Given the description of an element on the screen output the (x, y) to click on. 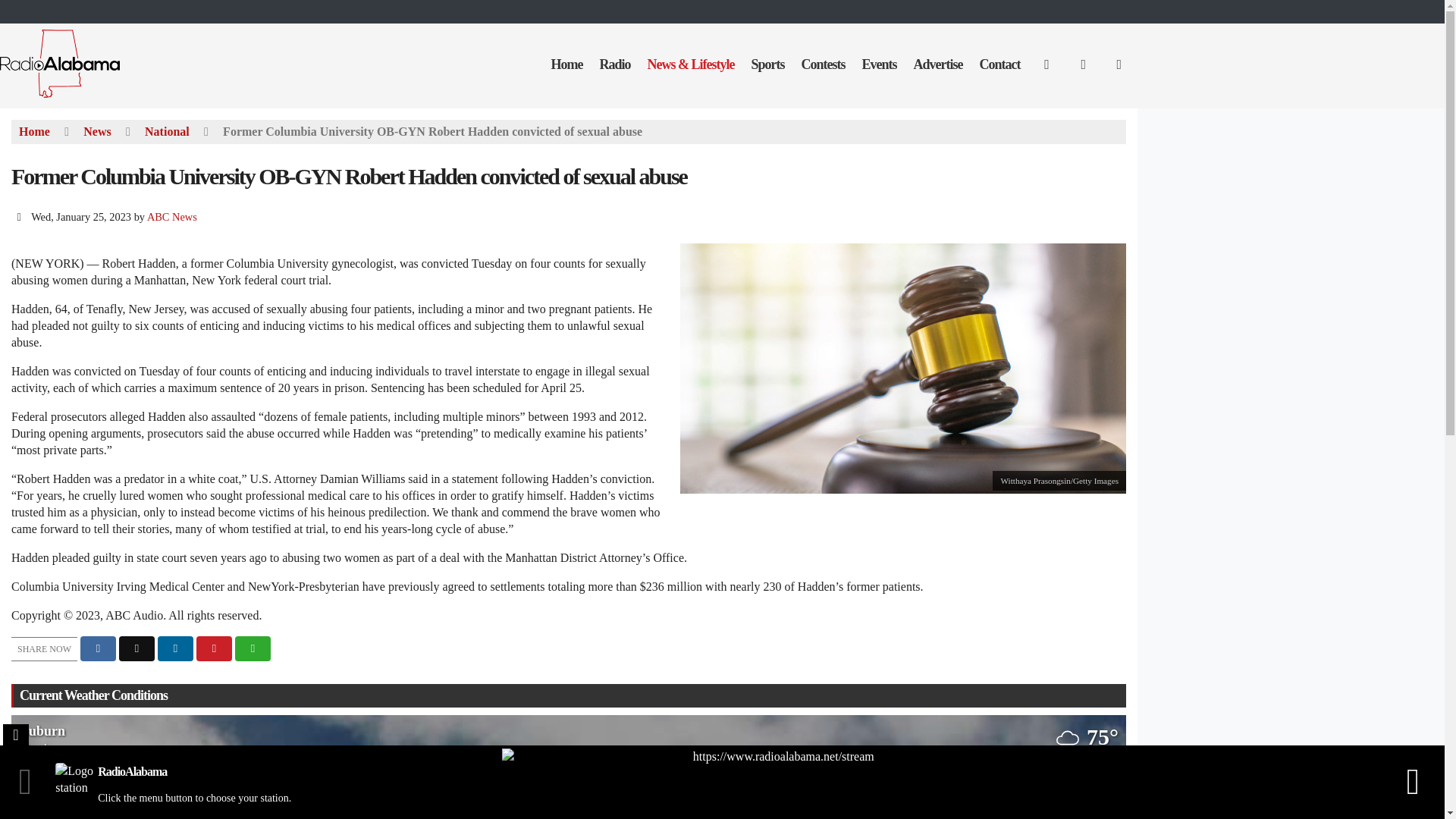
RadioAlabama (71, 95)
